Given the description of an element on the screen output the (x, y) to click on. 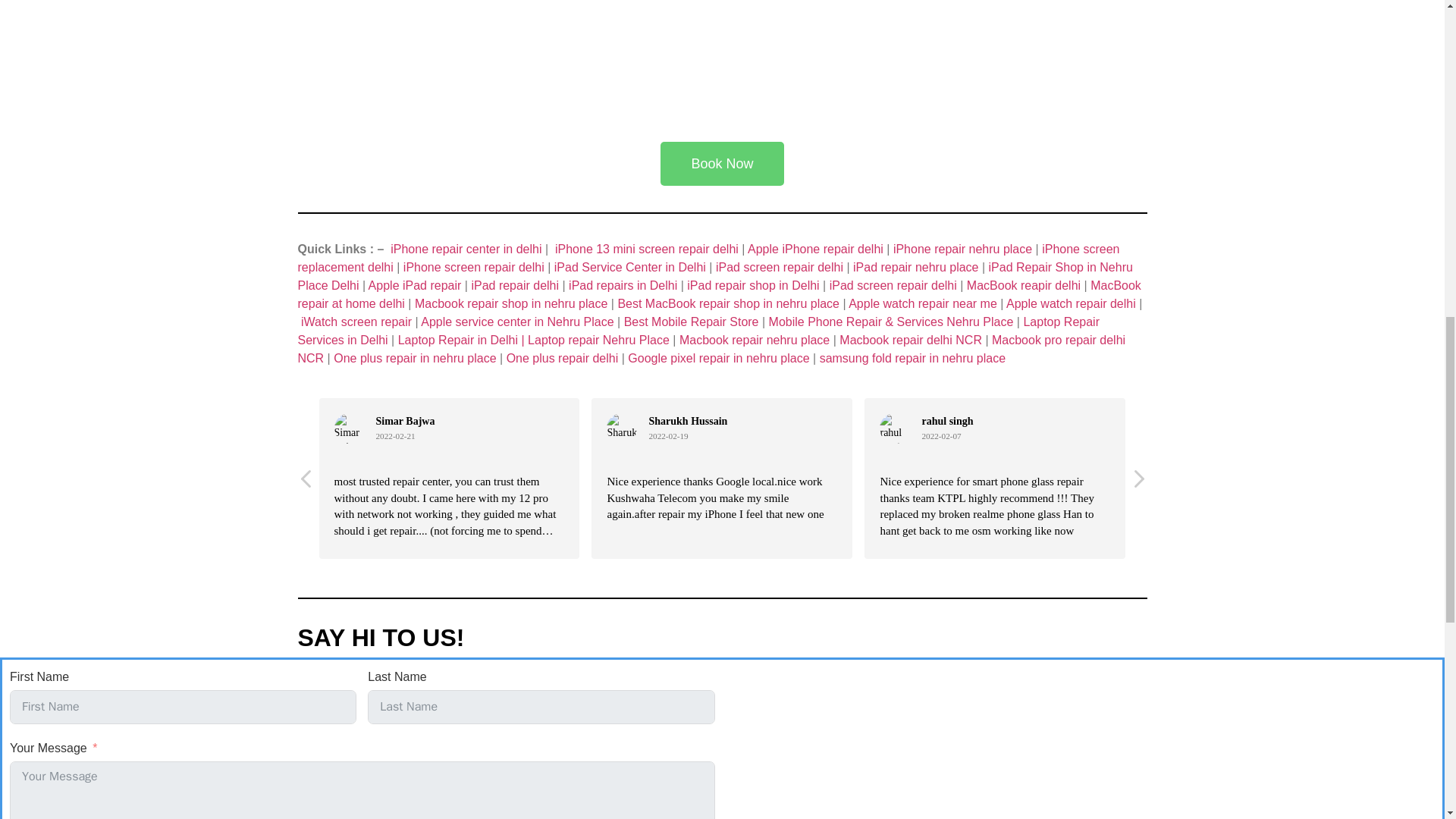
KUSHWAHA TELECOM Pvt. Ltd. (1081, 743)
